Given the description of an element on the screen output the (x, y) to click on. 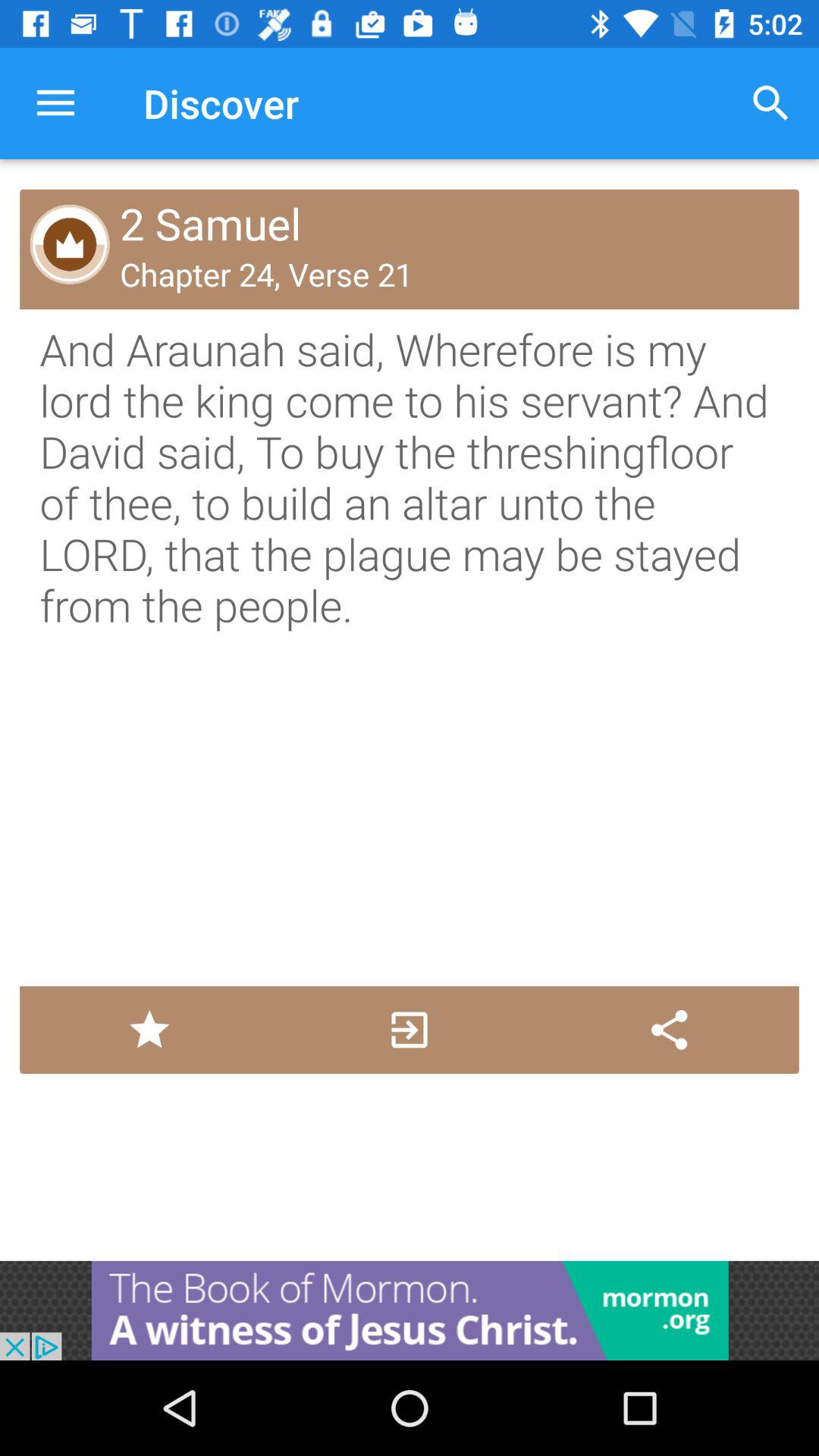
download the chapter (409, 1029)
